Given the description of an element on the screen output the (x, y) to click on. 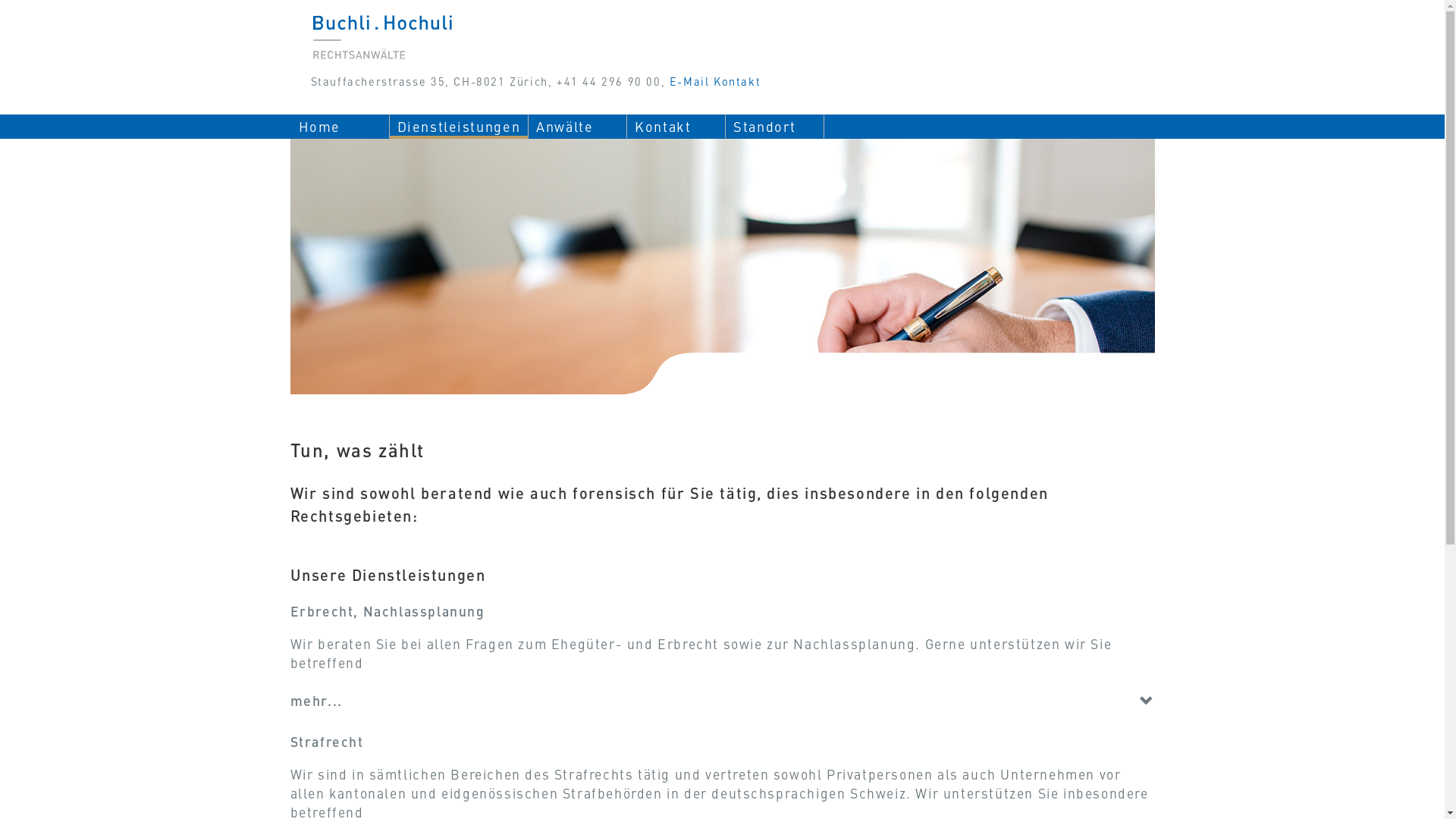
mehr... Element type: text (315, 699)
E-Mail Kontakt Element type: text (714, 80)
Home Element type: text (340, 126)
Standort Element type: text (774, 126)
Kontakt Element type: text (676, 126)
Dienstleistungen Element type: text (459, 126)
